Given the description of an element on the screen output the (x, y) to click on. 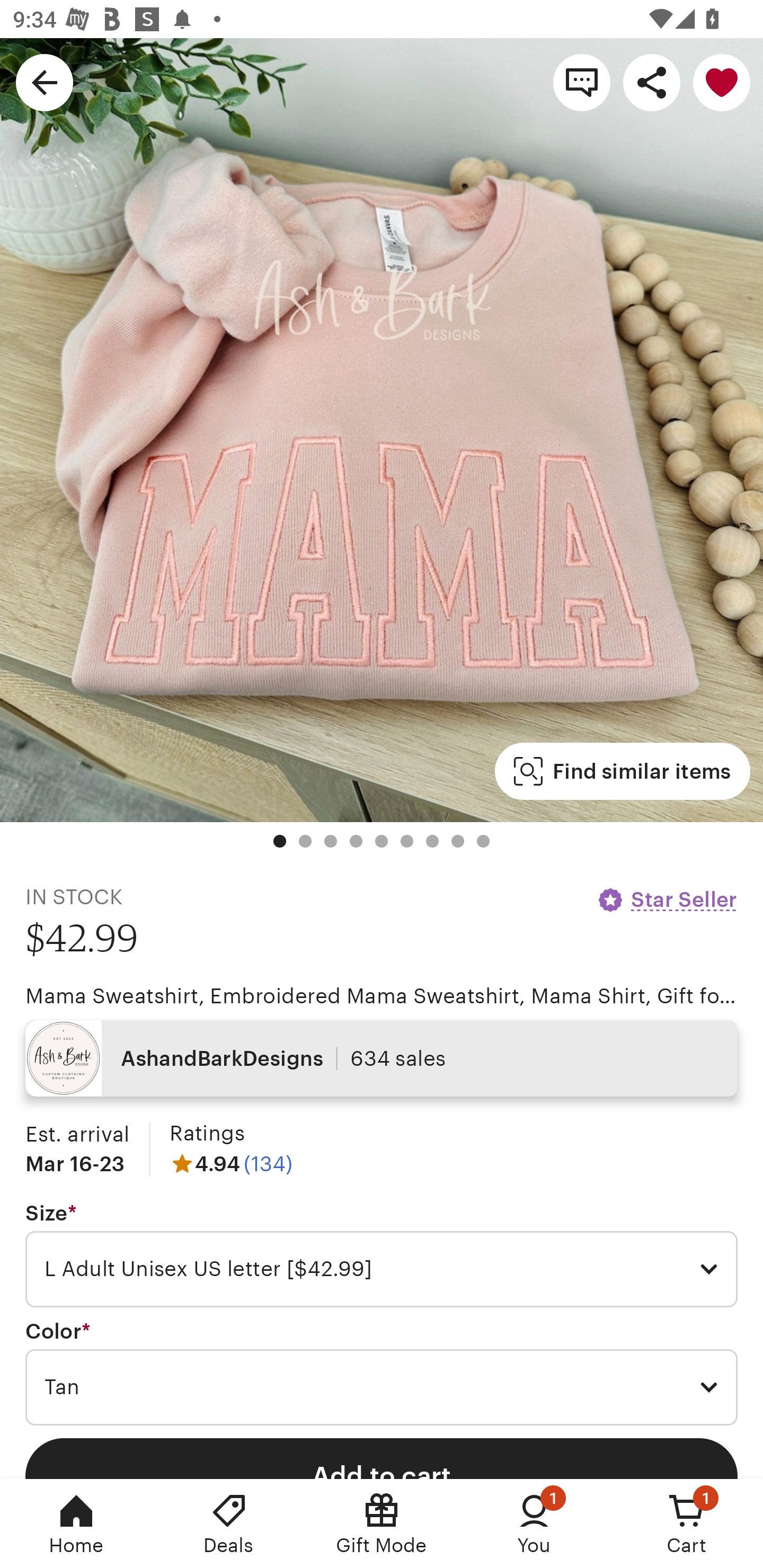
Navigate up (44, 81)
Contact shop (581, 81)
Share (651, 81)
Find similar items (622, 771)
Star Seller (666, 899)
AshandBarkDesigns 634 sales (381, 1058)
Ratings (206, 1133)
4.94 (134) (230, 1163)
Size * Required L Adult Unisex US letter [$42.99] (381, 1254)
L Adult Unisex US letter [$42.99] (381, 1268)
Color * Required Tan (381, 1372)
Tan (381, 1386)
Deals (228, 1523)
Gift Mode (381, 1523)
You, 1 new notification You (533, 1523)
Cart, 1 new notification Cart (686, 1523)
